Given the description of an element on the screen output the (x, y) to click on. 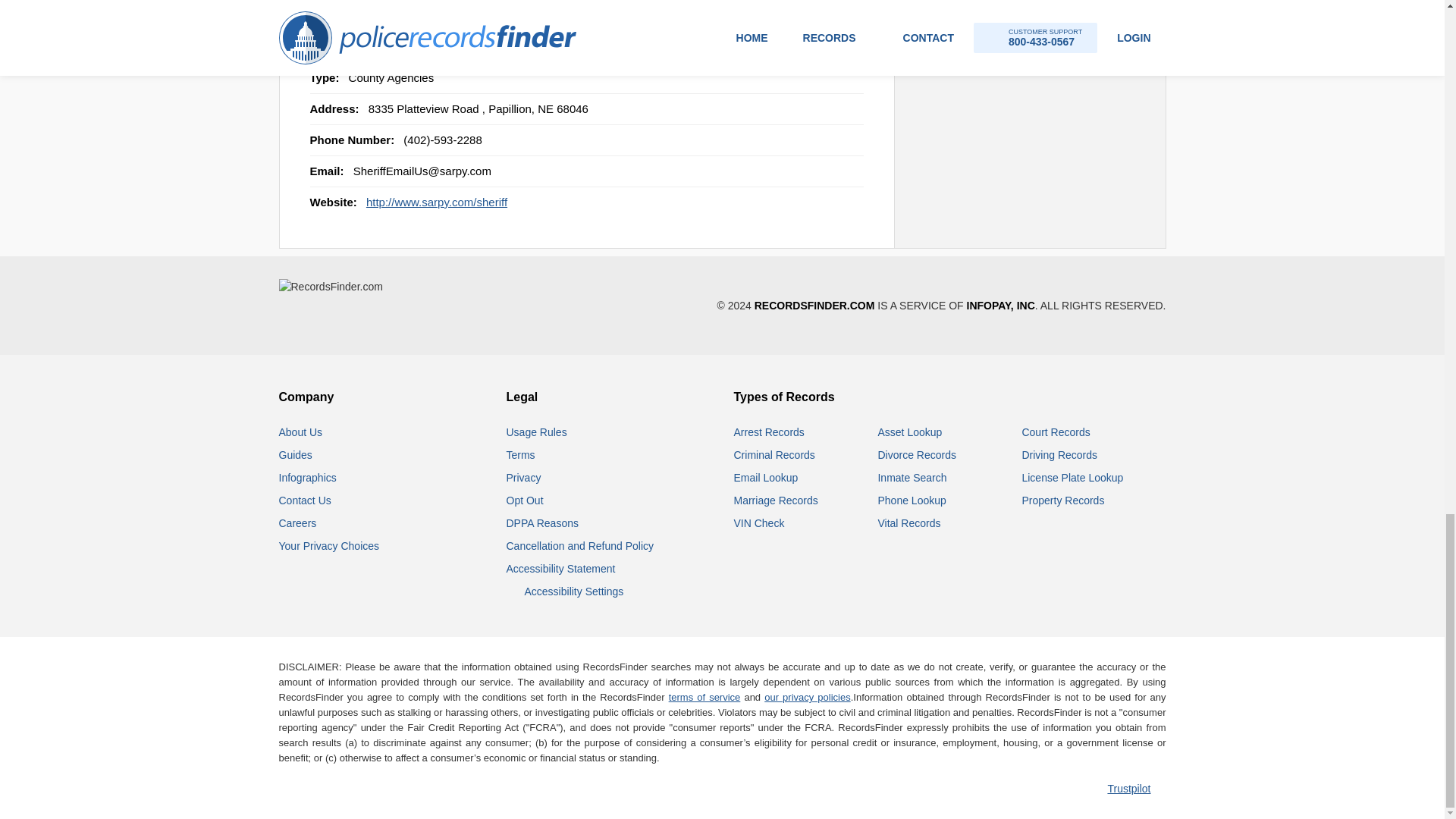
RecordsFinder.com Opt Out Instructions (524, 500)
Careers at RecordsFinder.com (298, 522)
RecordsFinder.com Accessibility Statement (560, 568)
Contact RecordsFinder.com (305, 500)
Guides and How tos (296, 454)
RecordsFinder.com Privacy Policy (523, 477)
RecordsFinder.com Terms and Conditions (520, 454)
RecordsFinder.com Cancellation and Refund Policy (579, 545)
View Public Records Infographics and Statistics (307, 477)
RecordsFinder.com DPPA Reasons (542, 522)
About RecordsFinder.com (301, 431)
Your Privacy Choices (329, 545)
RecordsFinder.com Usage Rules (536, 431)
